Given the description of an element on the screen output the (x, y) to click on. 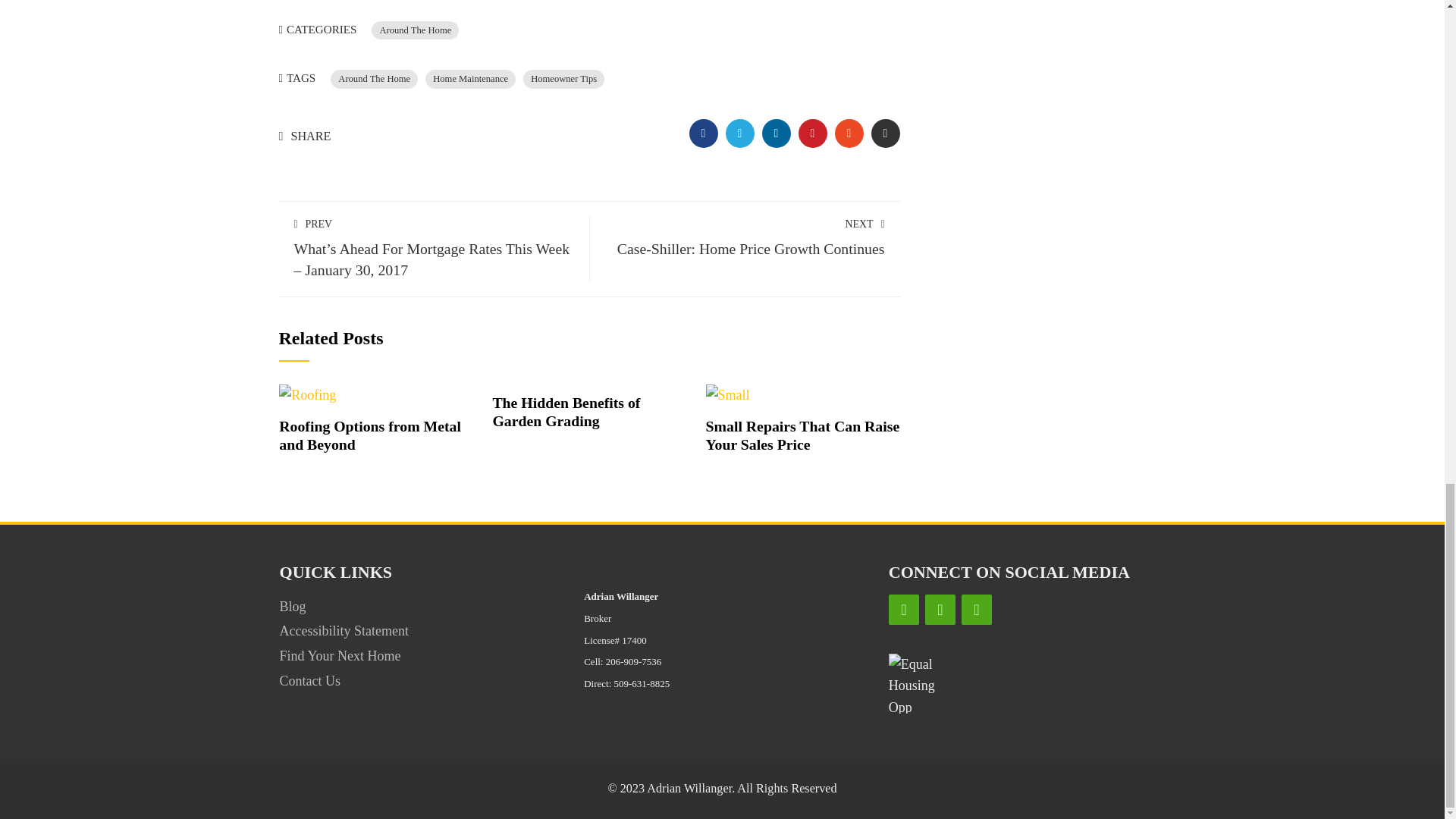
Twitter (975, 609)
Roofing Options from Metal and Beyond (370, 434)
Roofing Options from Metal and Beyond (307, 393)
The Hidden Benefits of Garden Grading (566, 411)
FACEBOOK (702, 133)
Around The Home (414, 30)
LinkedIn (939, 609)
Small Repairs That Can Raise Your Sales Price (727, 393)
Facebook (903, 609)
Home Maintenance (470, 78)
